Given the description of an element on the screen output the (x, y) to click on. 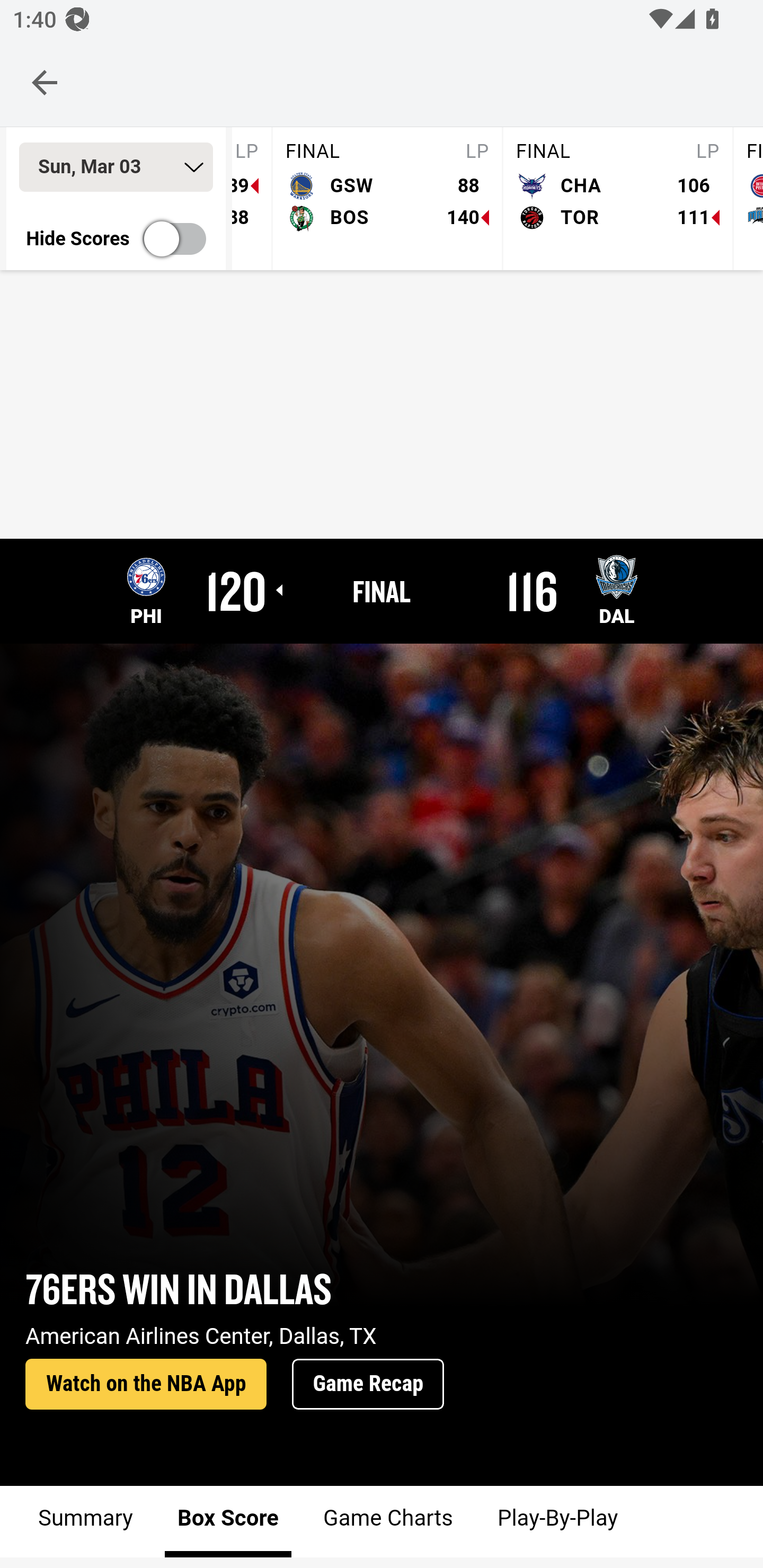
Navigate up (44, 82)
Sun, Mar 03 (115, 166)
Watch on the NBA App (146, 1384)
Game Recap (367, 1384)
Summary Summary Summary (85, 1521)
Box Score Box Score Box Score (228, 1521)
Game Charts Game Charts Game Charts (387, 1521)
Play-By-Play Play-By-Play Play-By-Play (556, 1521)
